Given the description of an element on the screen output the (x, y) to click on. 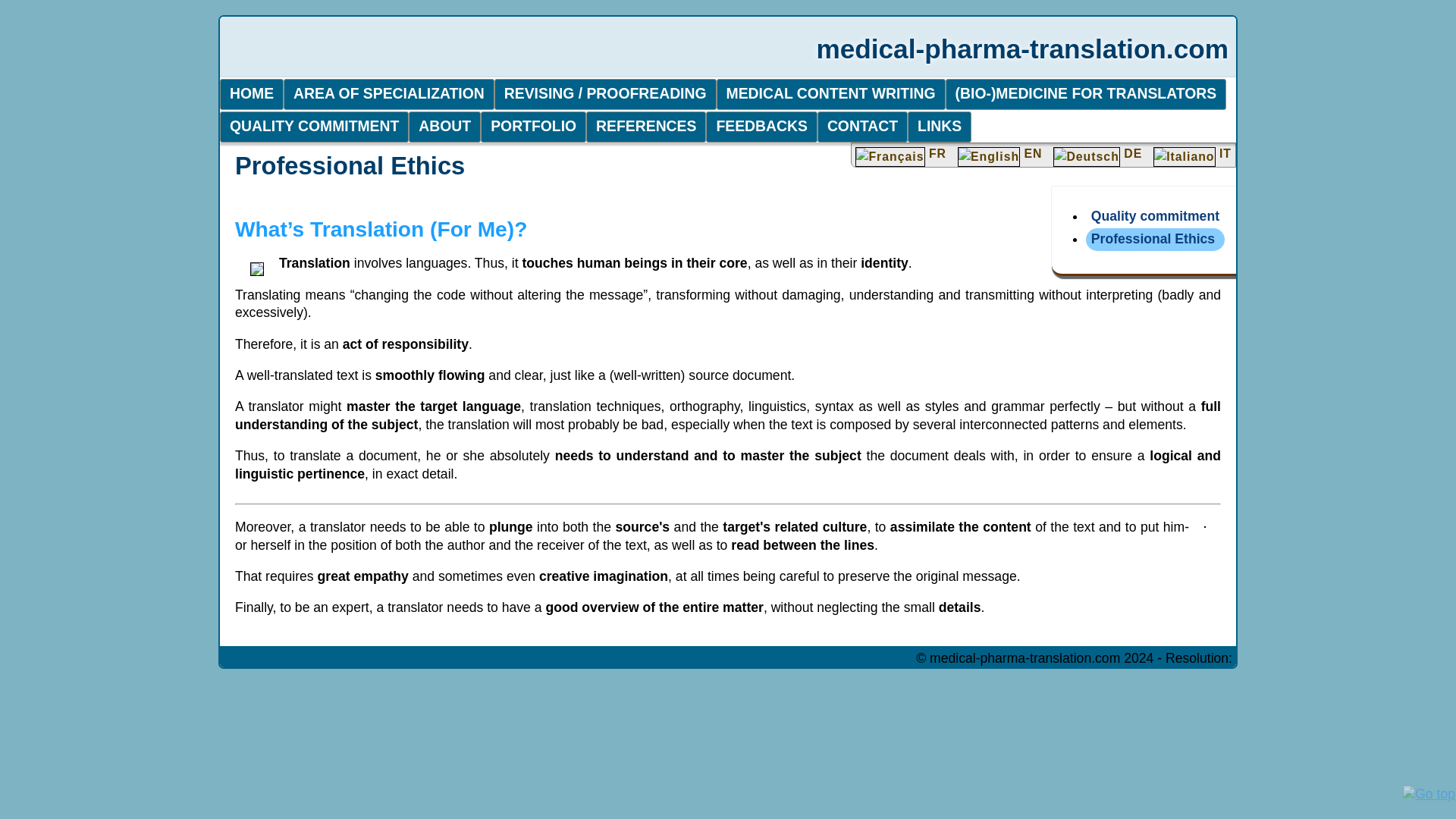
CONTACT (861, 126)
QUALITY COMMITMENT (314, 126)
DE (1097, 153)
IT (1192, 153)
FR (900, 153)
FEEDBACKS (761, 126)
ABOUT (444, 126)
AREA OF SPECIALIZATION (389, 93)
MEDICAL CONTENT WRITING (830, 93)
Professional Ethics (1153, 238)
REFERENCES (646, 126)
EN (999, 153)
PORTFOLIO (533, 126)
HOME (251, 93)
Quality commitment (1155, 215)
